Given the description of an element on the screen output the (x, y) to click on. 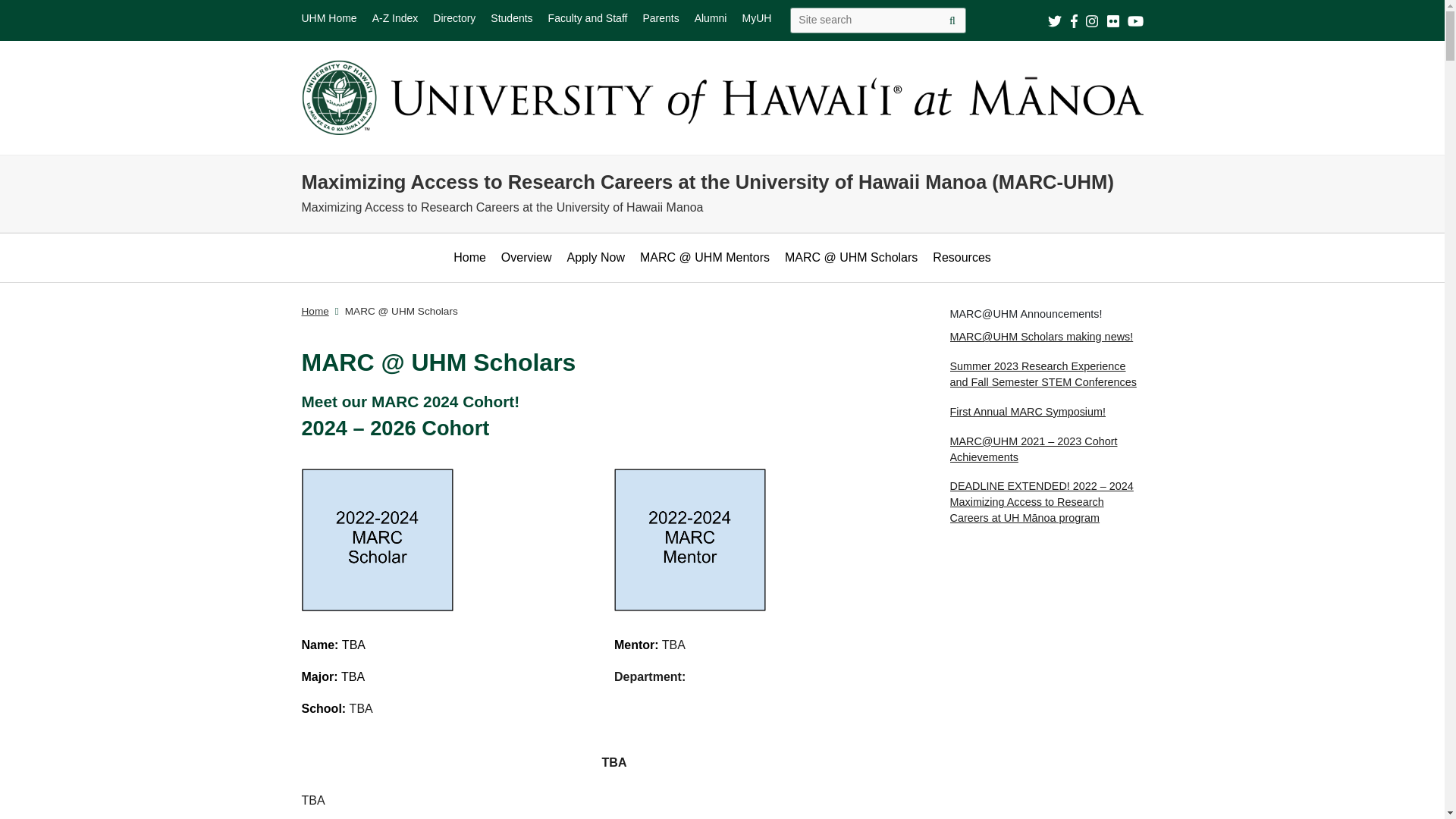
Parents (660, 18)
Directory (454, 18)
Faculty and Staff (587, 18)
Resources (961, 257)
A-Z Index (395, 18)
Students (511, 18)
Site search (952, 20)
Overview (525, 257)
Home (315, 310)
Home (469, 257)
